Given the description of an element on the screen output the (x, y) to click on. 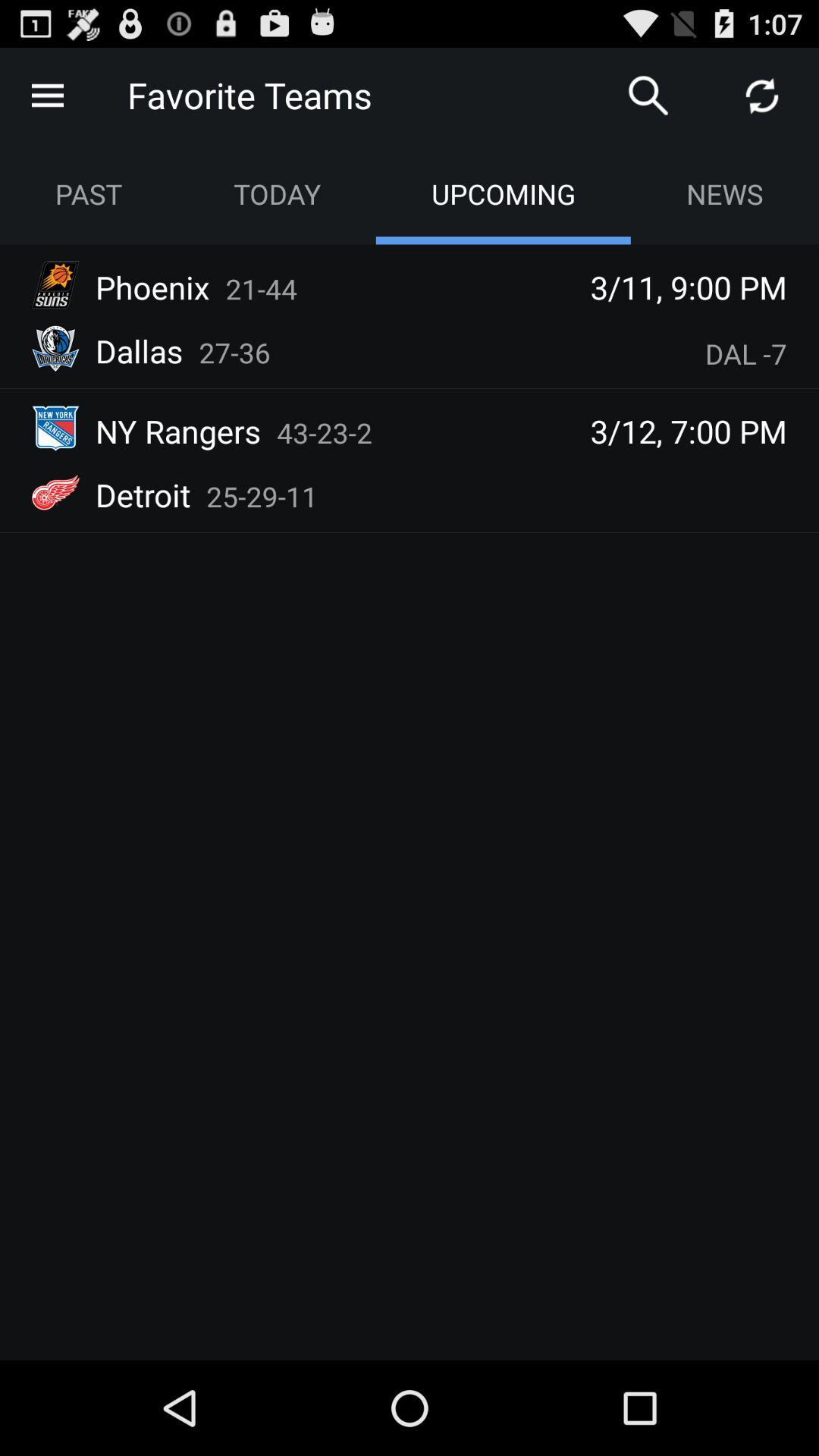
turn on item below the ny rangers app (261, 496)
